Given the description of an element on the screen output the (x, y) to click on. 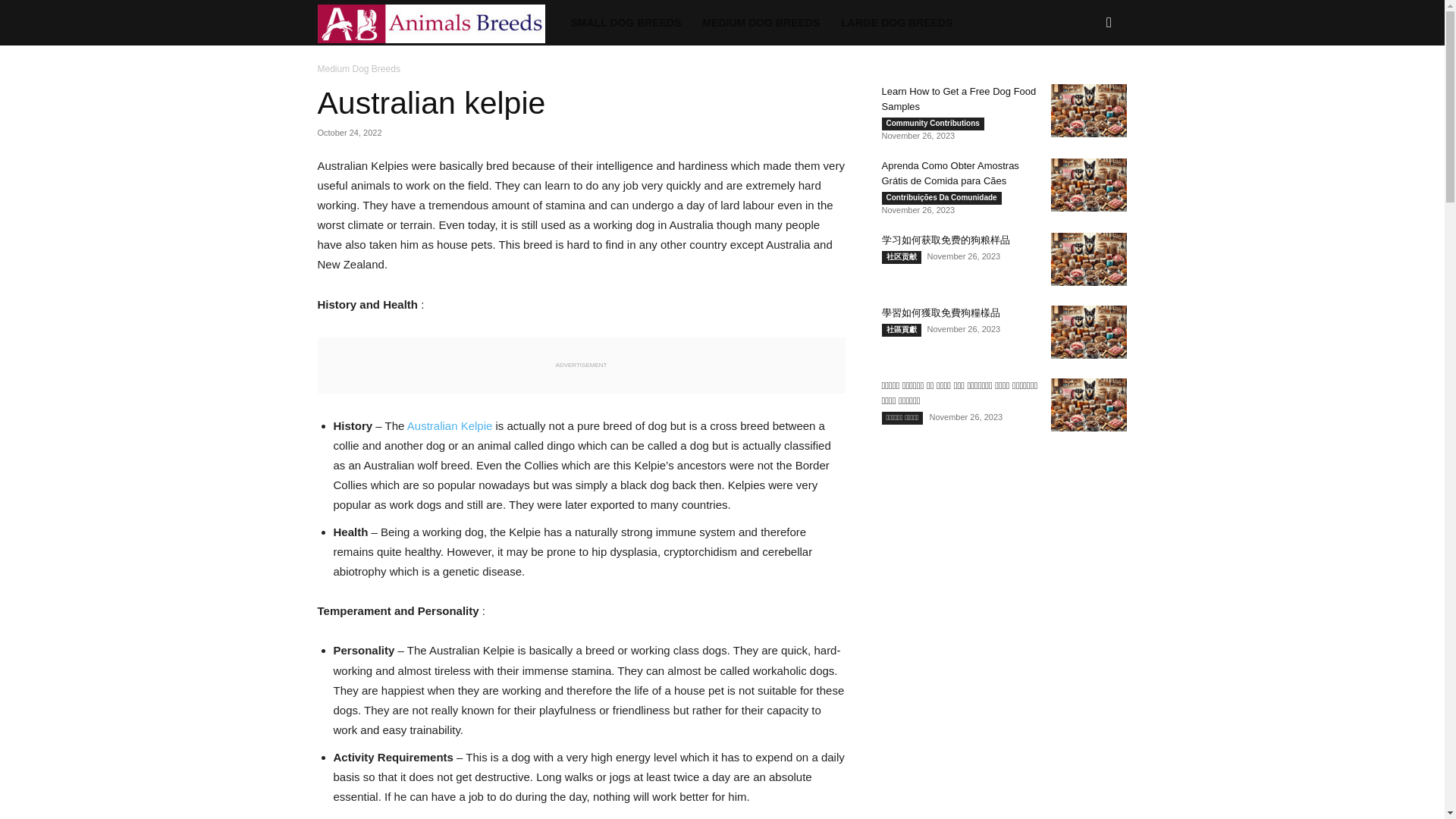
SMALL DOG BREEDS (625, 22)
MEDIUM DOG BREEDS (760, 22)
Animals Breeds (438, 22)
